Given the description of an element on the screen output the (x, y) to click on. 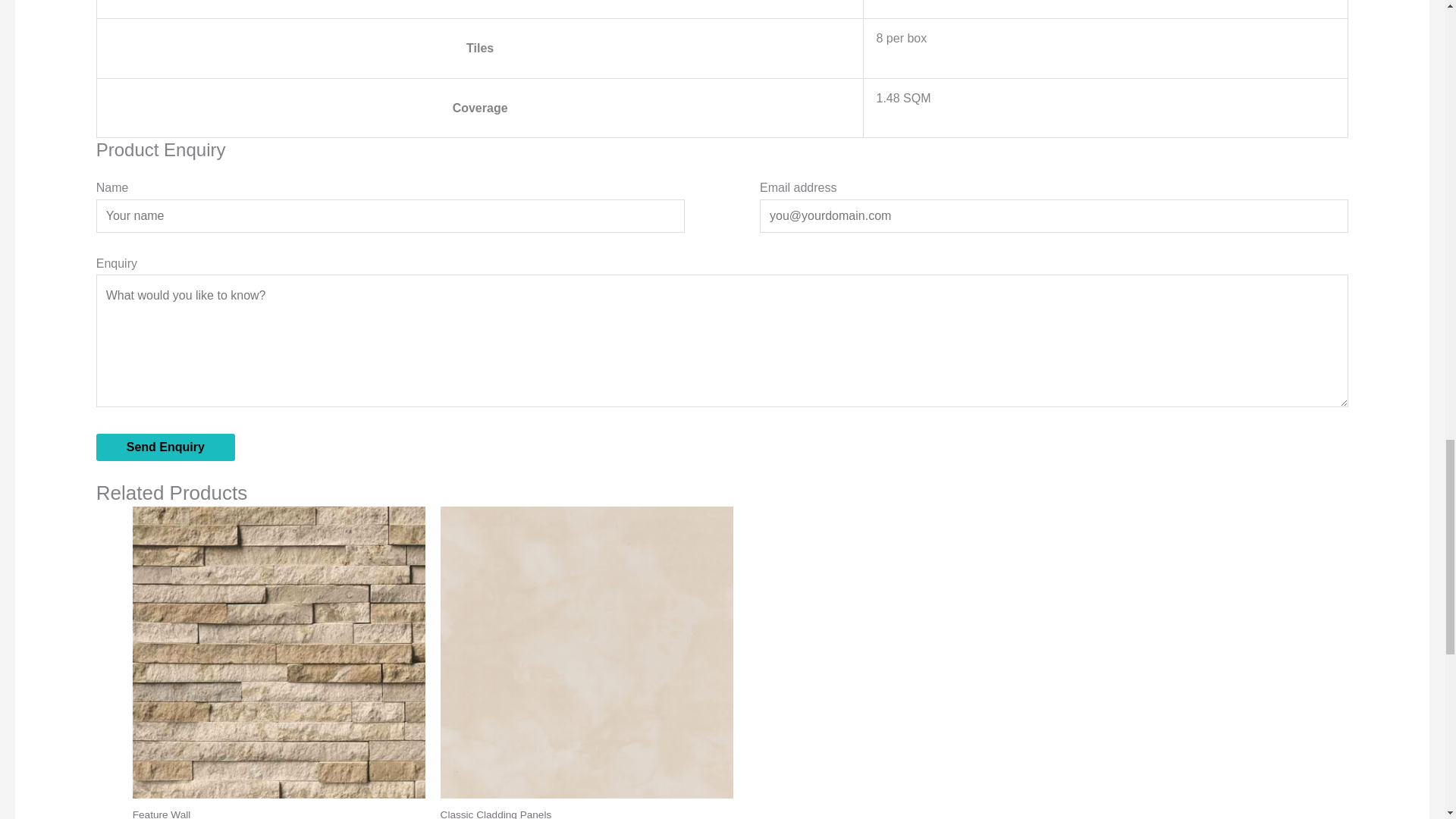
Send Enquiry (165, 447)
